Given the description of an element on the screen output the (x, y) to click on. 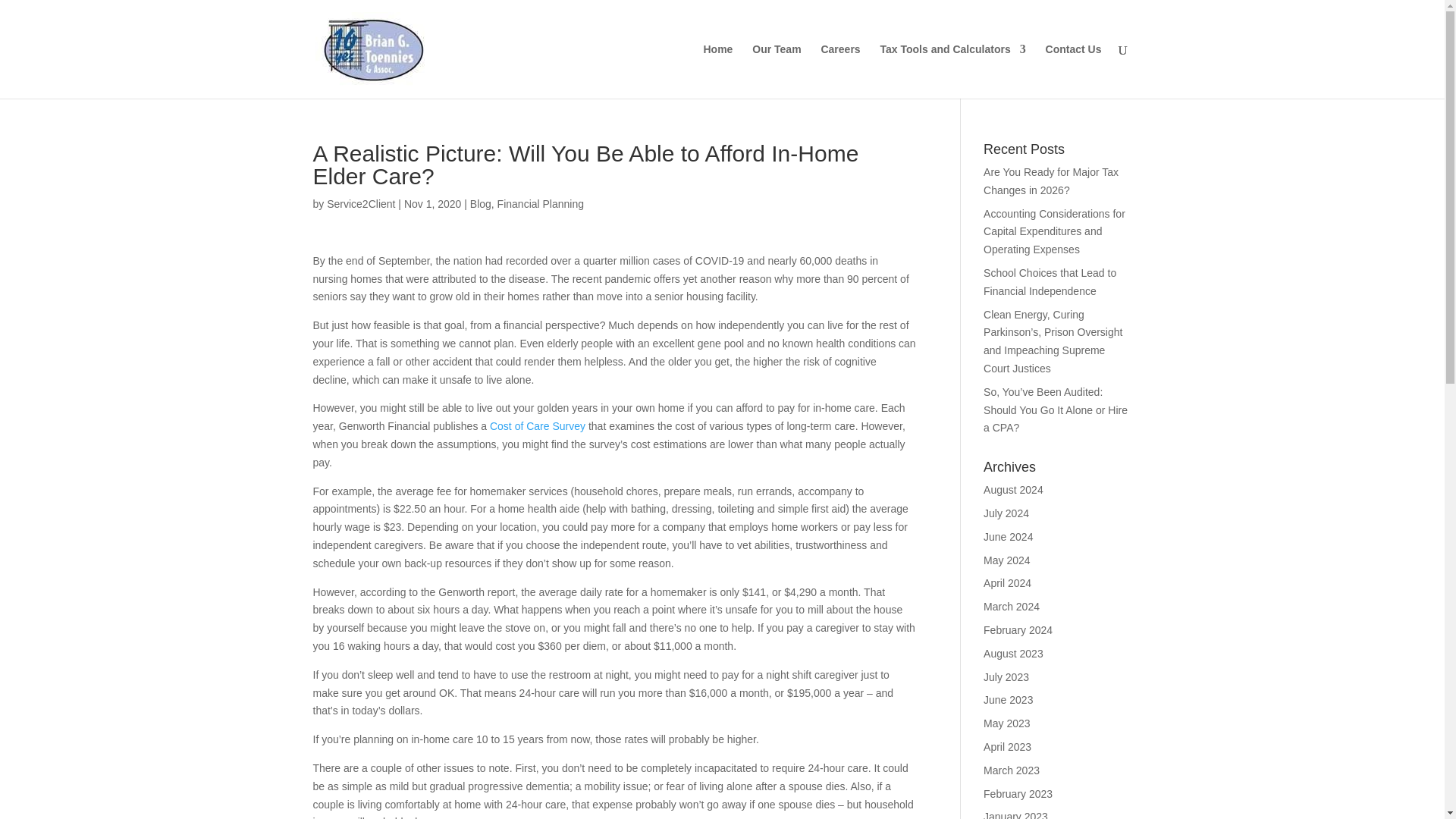
Cost of Care Survey (537, 426)
Service2Client (360, 203)
Contact Us (1073, 71)
Blog (481, 203)
Are You Ready for Major Tax Changes in 2026? (1051, 181)
Posts by Service2Client (360, 203)
School Choices that Lead to Financial Independence (1050, 281)
Tax Tools and Calculators (953, 71)
Financial Planning (540, 203)
